Given the description of an element on the screen output the (x, y) to click on. 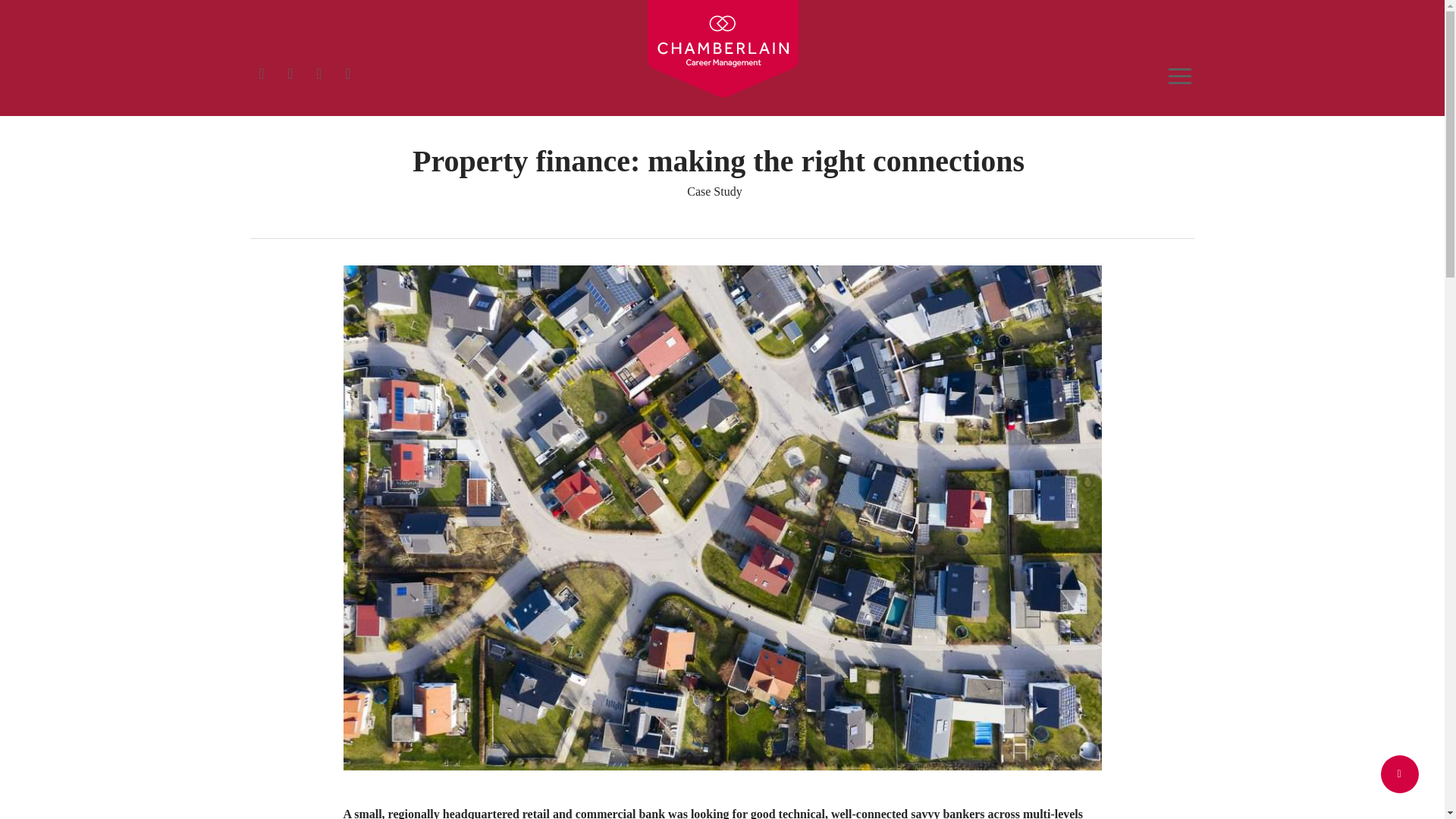
email (347, 71)
linkedin (290, 71)
Case Study (714, 191)
phone (318, 71)
Menu (1181, 75)
twitter (261, 71)
